Given the description of an element on the screen output the (x, y) to click on. 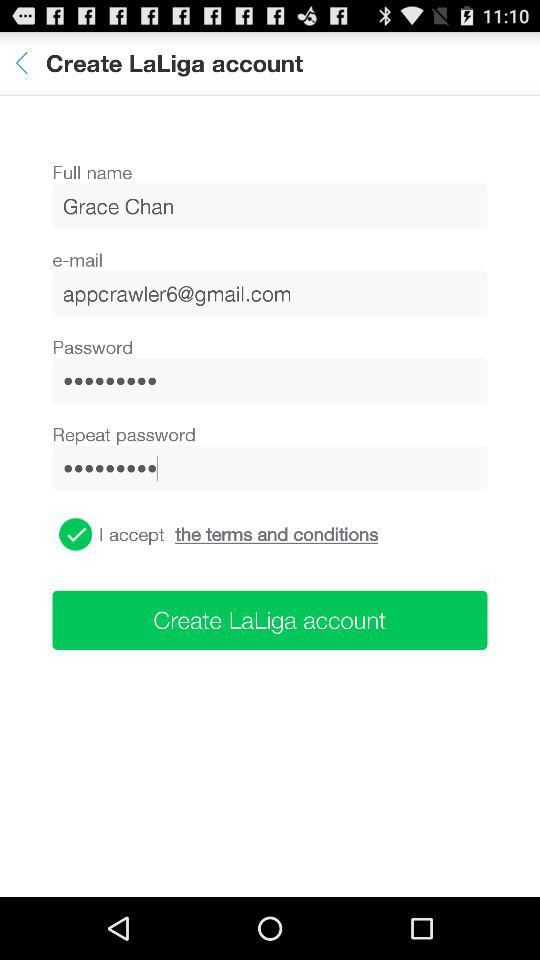
swipe to the terms and (276, 533)
